Given the description of an element on the screen output the (x, y) to click on. 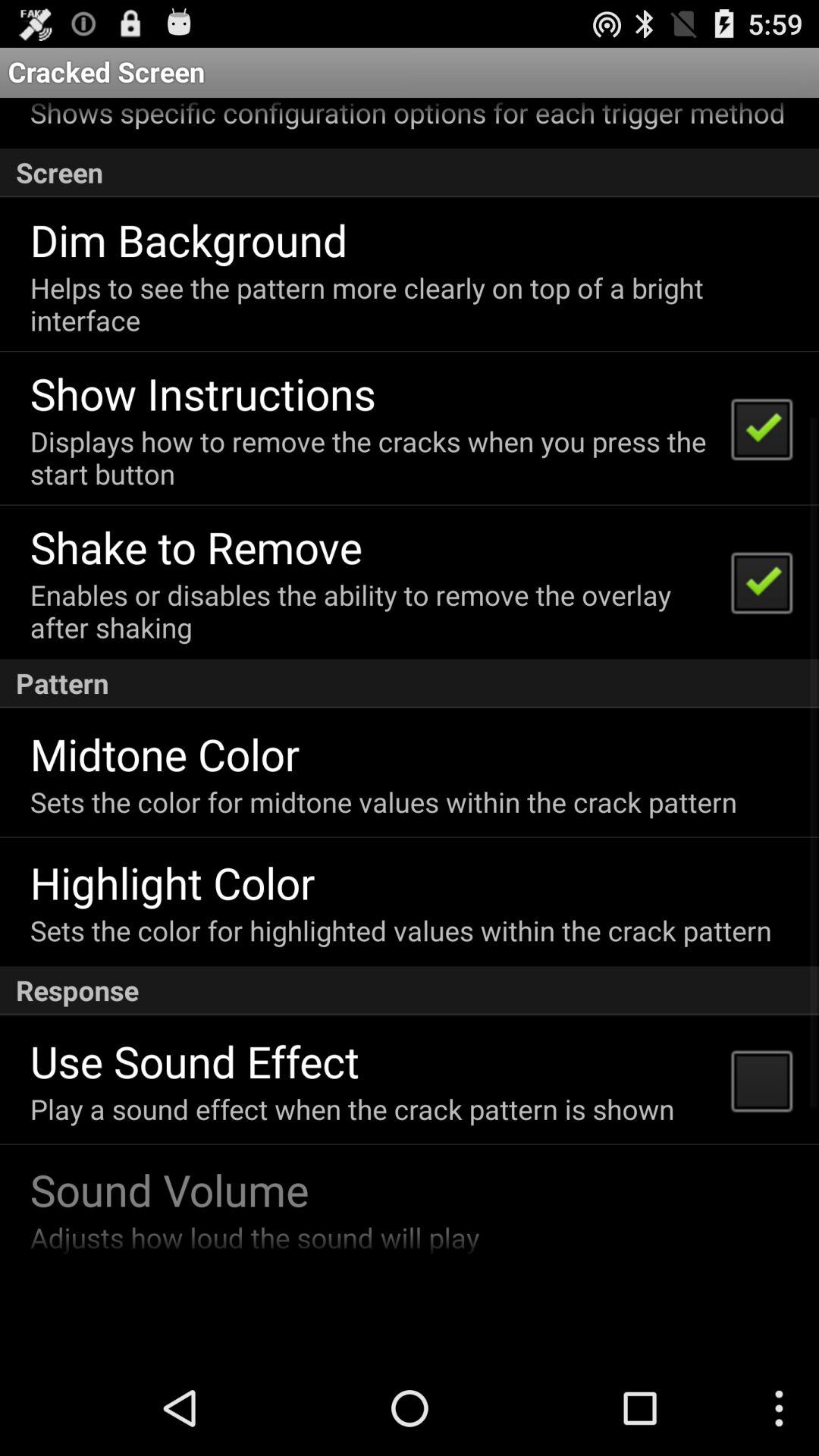
press icon below play a sound app (169, 1189)
